Given the description of an element on the screen output the (x, y) to click on. 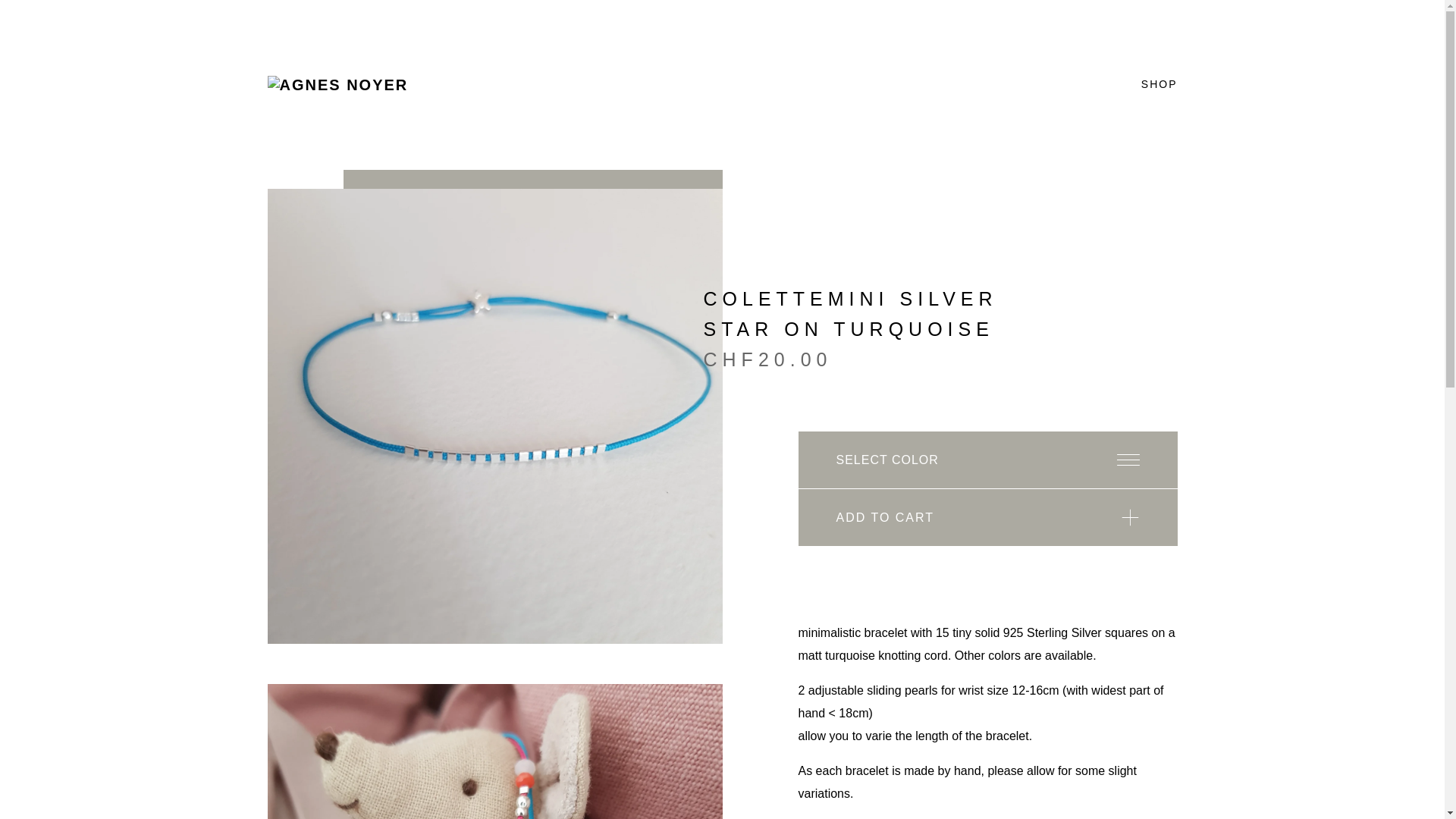
SHOP Element type: text (1159, 84)
agnes noyer Element type: hover (336, 84)
ADD TO CART Element type: text (986, 517)
